Given the description of an element on the screen output the (x, y) to click on. 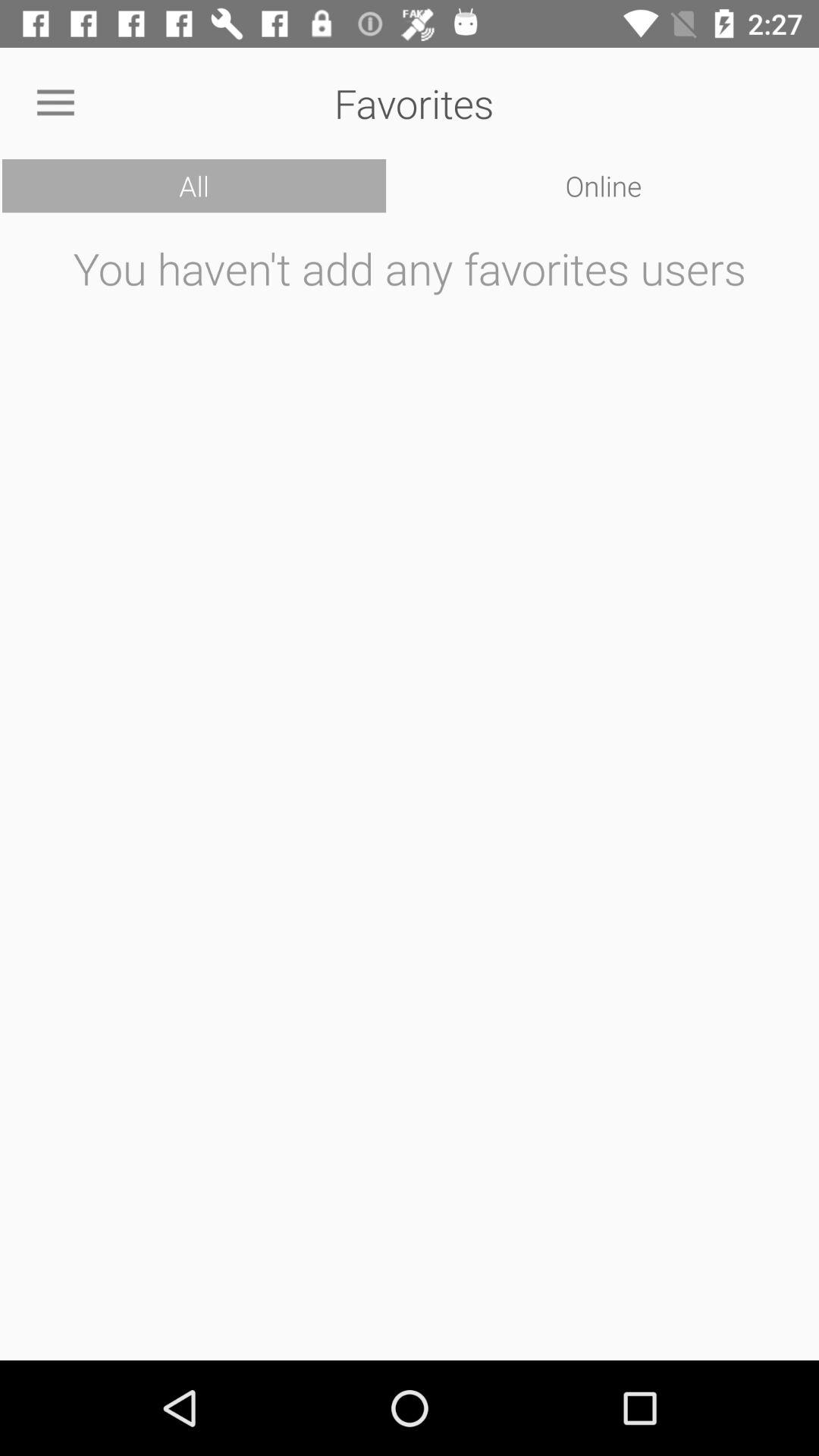
turn on the online item (603, 185)
